Given the description of an element on the screen output the (x, y) to click on. 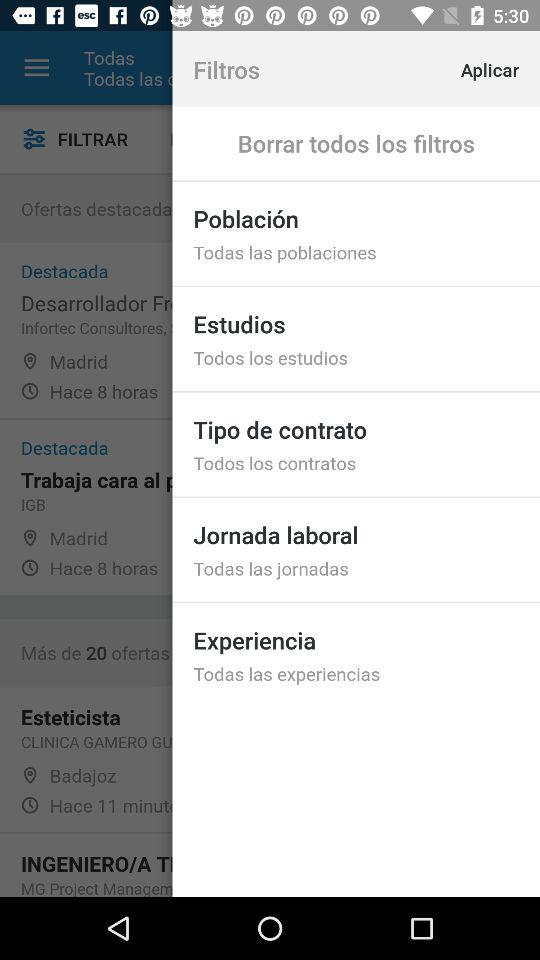
tap icon next to the estudios item (220, 138)
